Given the description of an element on the screen output the (x, y) to click on. 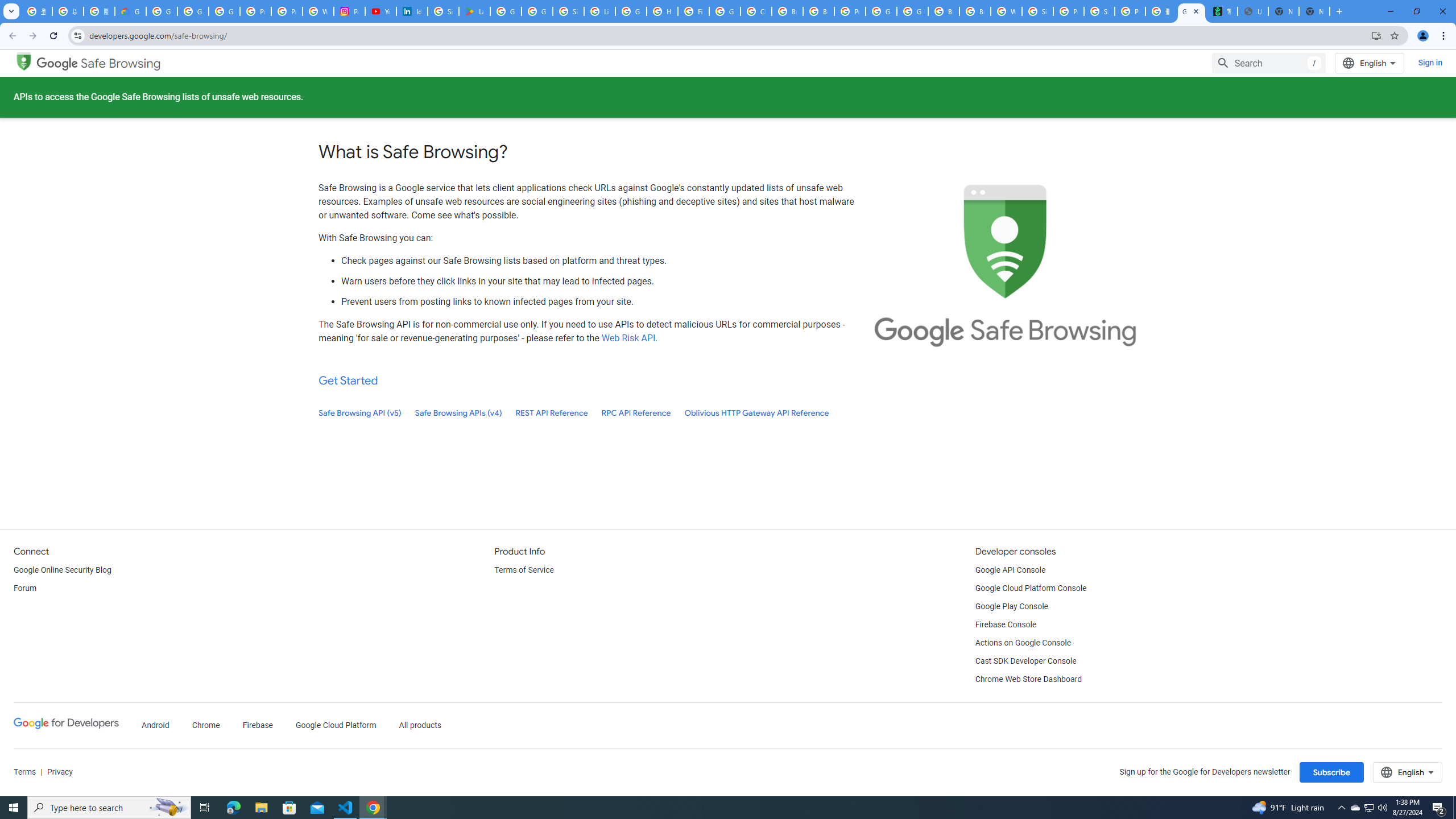
Web Risk API (628, 337)
Privacy Help Center - Policies Help (286, 11)
Google Safe Browsing (23, 60)
Privacy (59, 772)
Safe Browsing APIs (v4) (458, 412)
Actions on Google Console (1023, 642)
Browse Chrome as a guest - Computer - Google Chrome Help (787, 11)
